Given the description of an element on the screen output the (x, y) to click on. 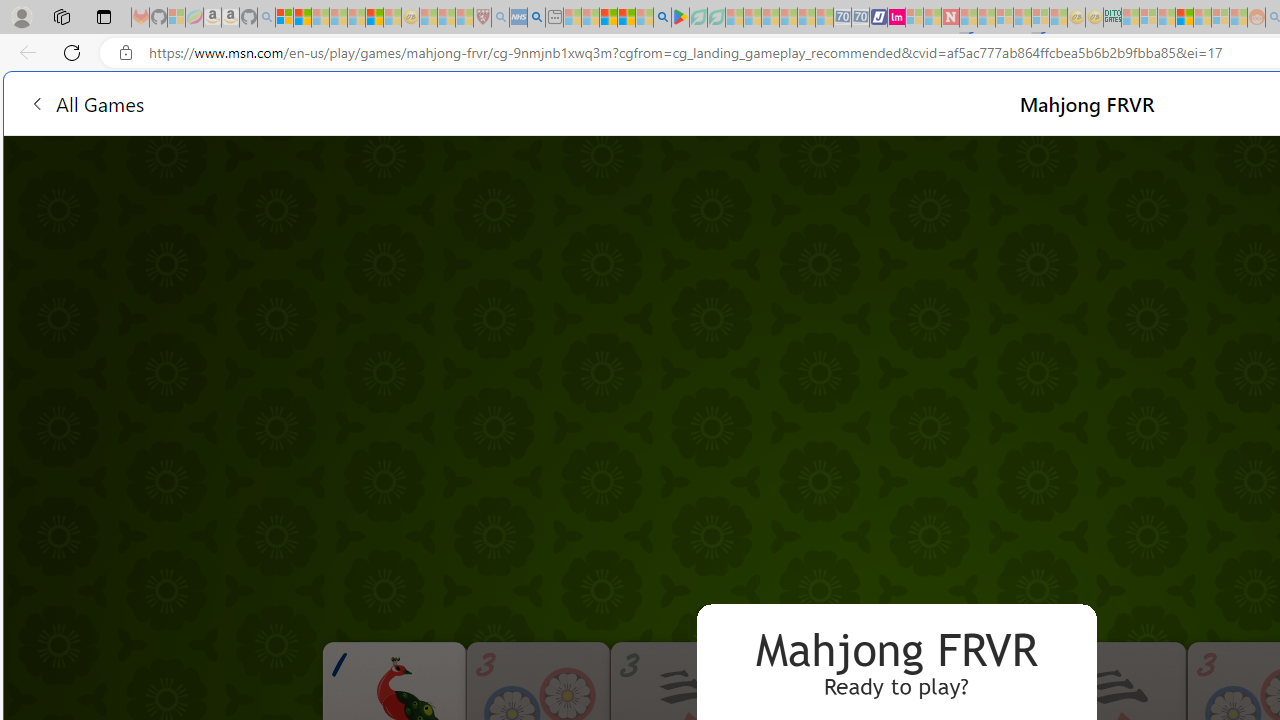
Expert Portfolios (1184, 17)
Kinda Frugal - MSN - Sleeping (1202, 17)
All Games (86, 102)
